Given the description of an element on the screen output the (x, y) to click on. 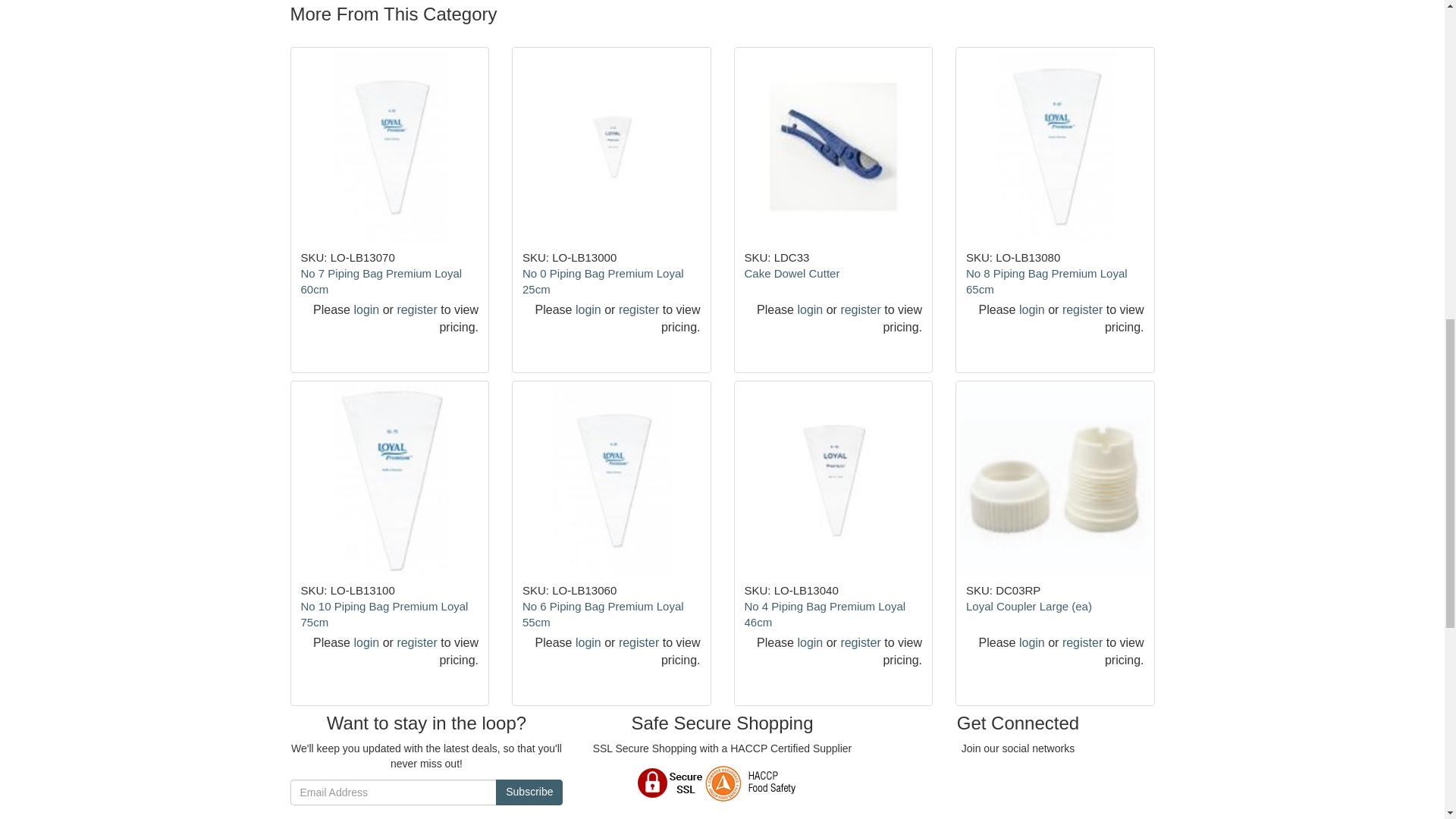
No 8 Piping Bag Premium Loyal 65cm (1046, 280)
No 0 Piping Bag Premium Loyal 25cm (603, 280)
No 6 Piping Bag Premium Loyal 55cm (603, 613)
Subscribe (529, 792)
No 10 Piping Bag Premium Loyal 75cm (383, 613)
No 4 Piping Bag Premium Loyal 46cm (824, 613)
No 7 Piping Bag Premium Loyal 60cm (380, 280)
Cake Dowel Cutter (792, 273)
